Given the description of an element on the screen output the (x, y) to click on. 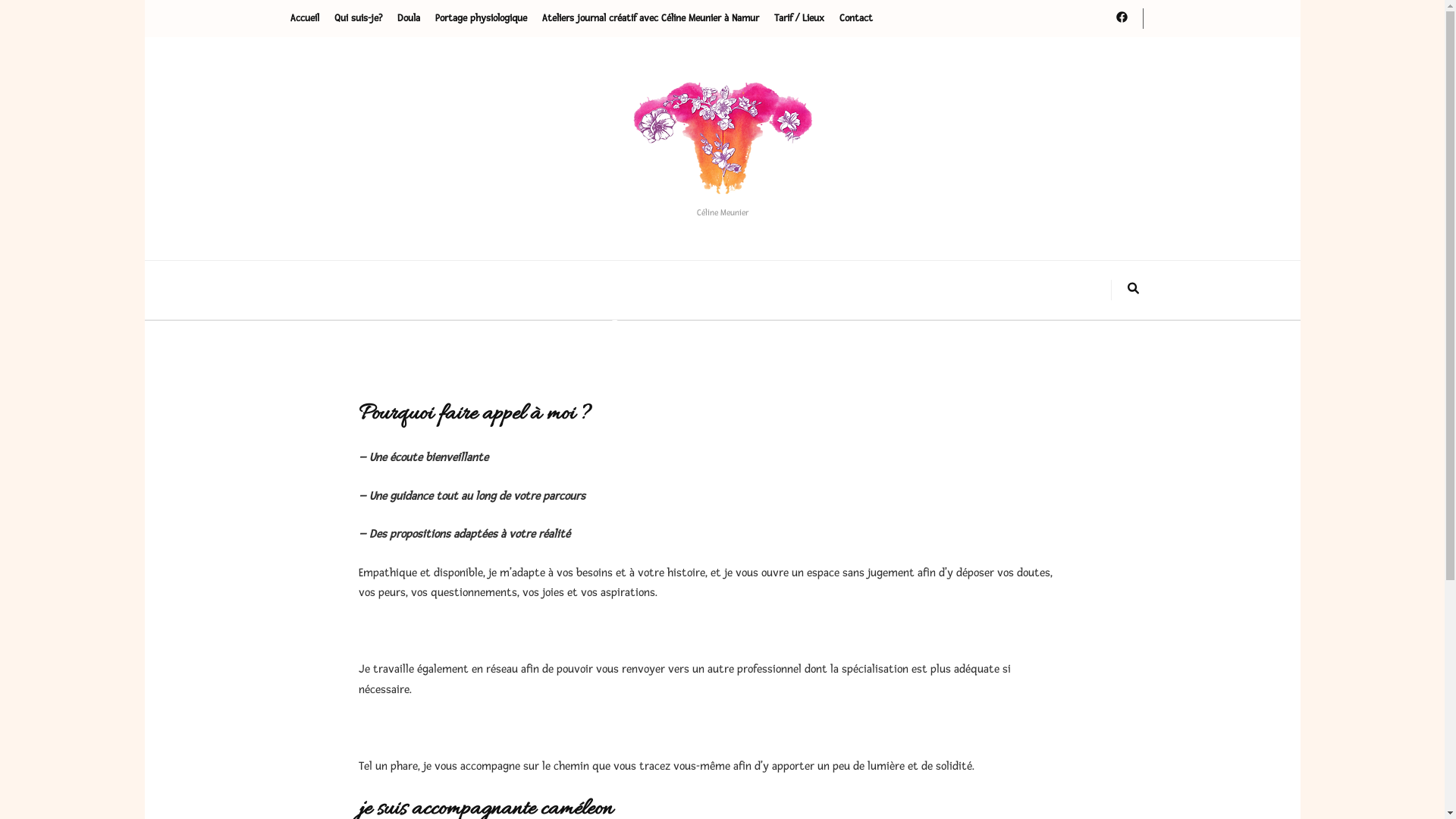
Tarif / Lieux Element type: text (798, 18)
Doula Element type: text (408, 18)
Portage physiologique Element type: text (481, 18)
Bonjour tout le monde ! Element type: text (721, 297)
Accueil Element type: text (303, 18)
Qui suis-je? Element type: text (357, 18)
Contact Element type: text (855, 18)
